Given the description of an element on the screen output the (x, y) to click on. 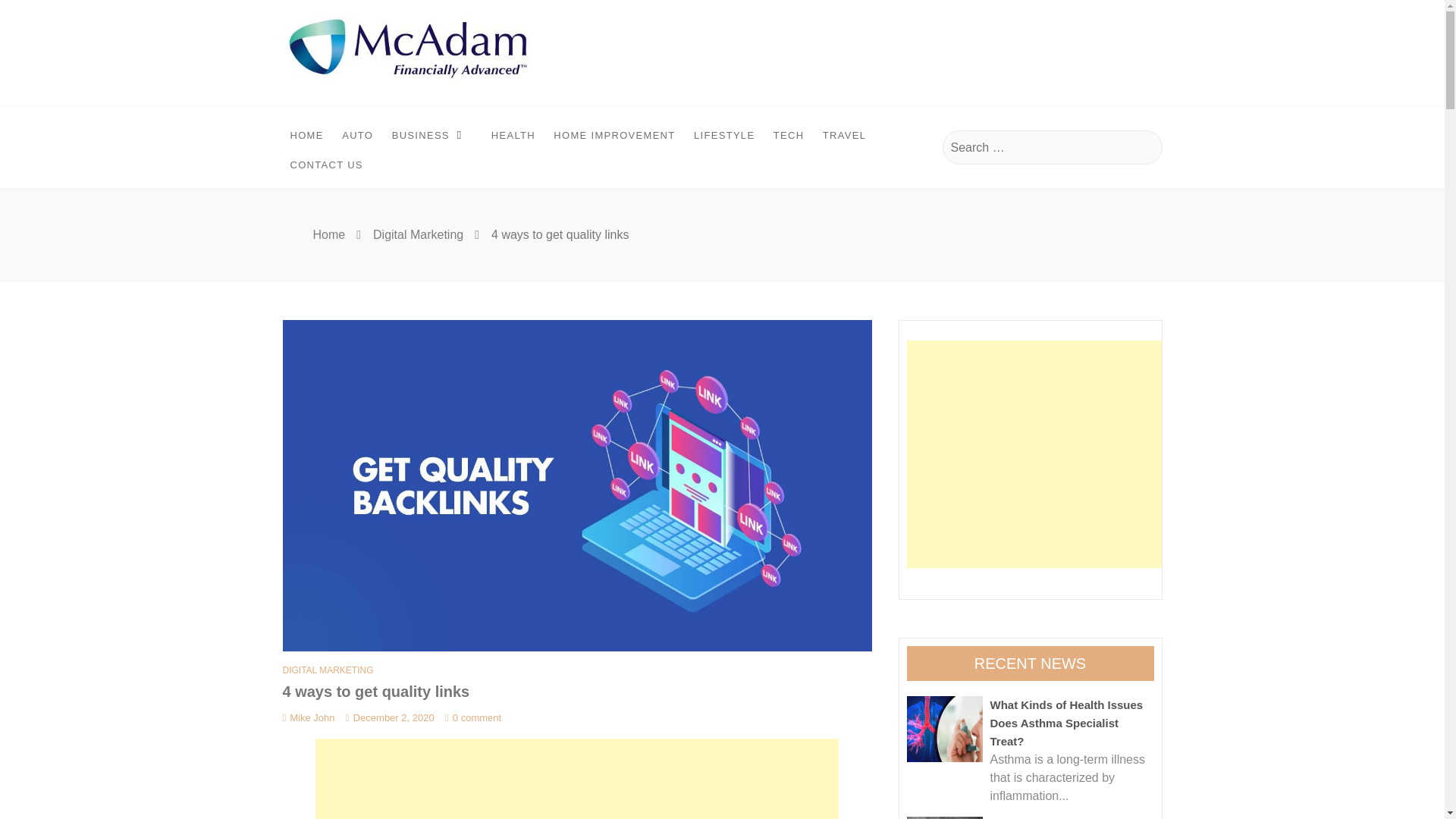
What Kinds of Health Issues Does Asthma Specialist Treat? (944, 729)
Mike John (308, 717)
Notepads to Backpacks- An everyday need (944, 817)
HEALTH (513, 135)
TRAVEL (844, 135)
LIFESTYLE (723, 135)
BUSINESS (432, 133)
CONTACT US (325, 165)
HOME (306, 135)
